Given the description of an element on the screen output the (x, y) to click on. 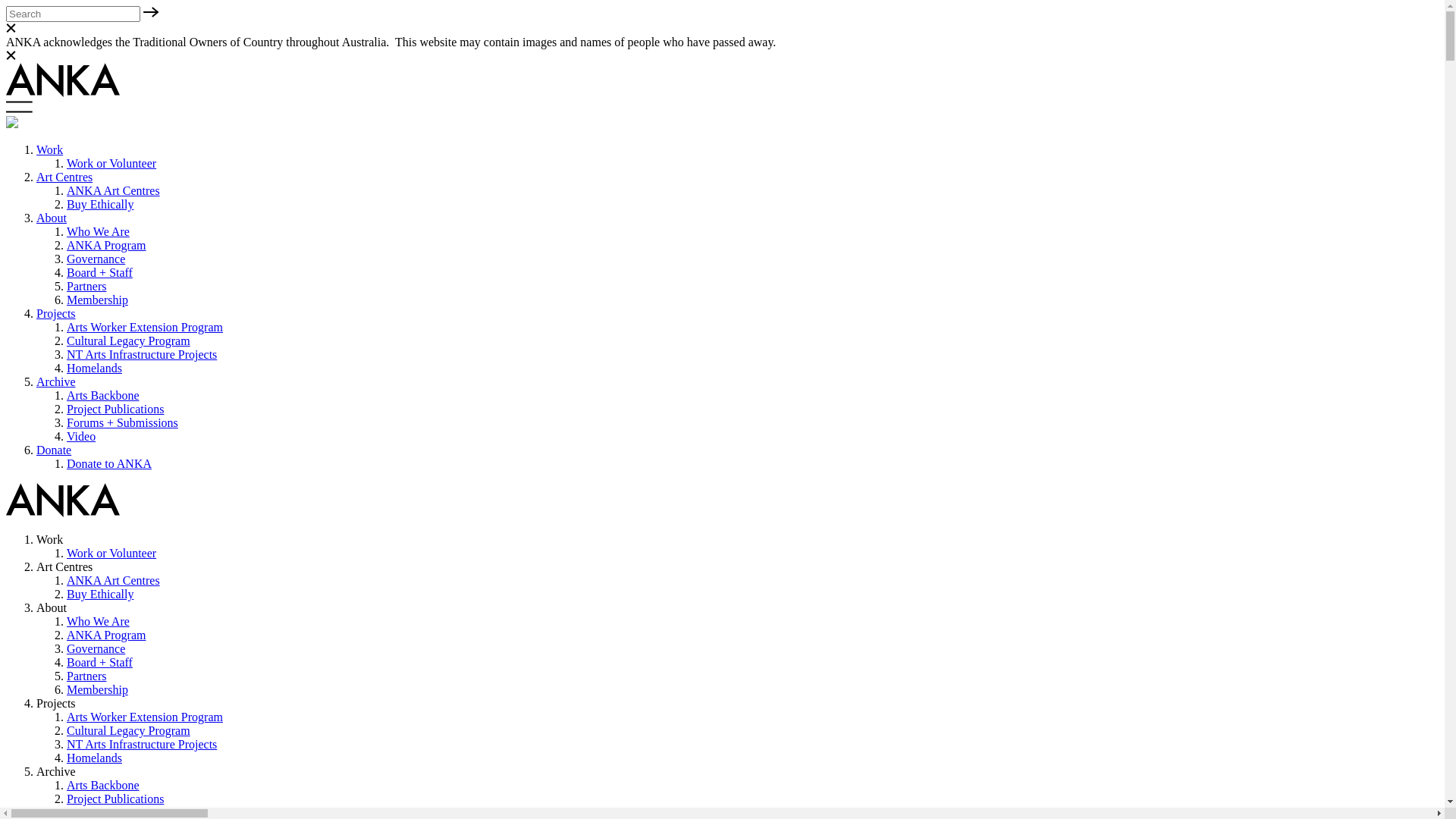
Membership Element type: text (97, 299)
Forums + Submissions Element type: text (122, 422)
Donate to ANKA Element type: text (108, 463)
Arts Worker Extension Program Element type: text (144, 326)
Who We Are Element type: text (97, 231)
Board + Staff Element type: text (99, 661)
Cultural Legacy Program Element type: text (128, 340)
ANKA Program Element type: text (105, 634)
About Element type: text (51, 217)
NT Arts Infrastructure Projects Element type: text (141, 354)
ANKA Program Element type: text (105, 244)
Membership Element type: text (97, 689)
Projects Element type: text (55, 313)
ANKA Art Centres Element type: text (113, 580)
Arts Backbone Element type: text (102, 784)
Cultural Legacy Program Element type: text (128, 730)
Homelands Element type: text (94, 367)
Archive Element type: text (55, 381)
Project Publications Element type: text (114, 408)
Work or Volunteer Element type: text (111, 162)
Created with Sketch. Element type: text (62, 513)
Partners Element type: text (86, 675)
Created with Sketch. Element type: text (62, 93)
Who We Are Element type: text (97, 621)
Project Publications Element type: text (114, 798)
Homelands Element type: text (94, 757)
NT Arts Infrastructure Projects Element type: text (141, 743)
Governance Element type: text (95, 648)
Donate Element type: text (53, 449)
Video Element type: text (80, 435)
Arts Backbone Element type: text (102, 395)
Buy Ethically Element type: text (99, 203)
Work Element type: text (49, 149)
Partners Element type: text (86, 285)
Work or Volunteer Element type: text (111, 552)
Arts Worker Extension Program Element type: text (144, 716)
Art Centres Element type: text (64, 176)
Board + Staff Element type: text (99, 272)
Governance Element type: text (95, 258)
ANKA Art Centres Element type: text (113, 190)
Buy Ethically Element type: text (99, 593)
